Given the description of an element on the screen output the (x, y) to click on. 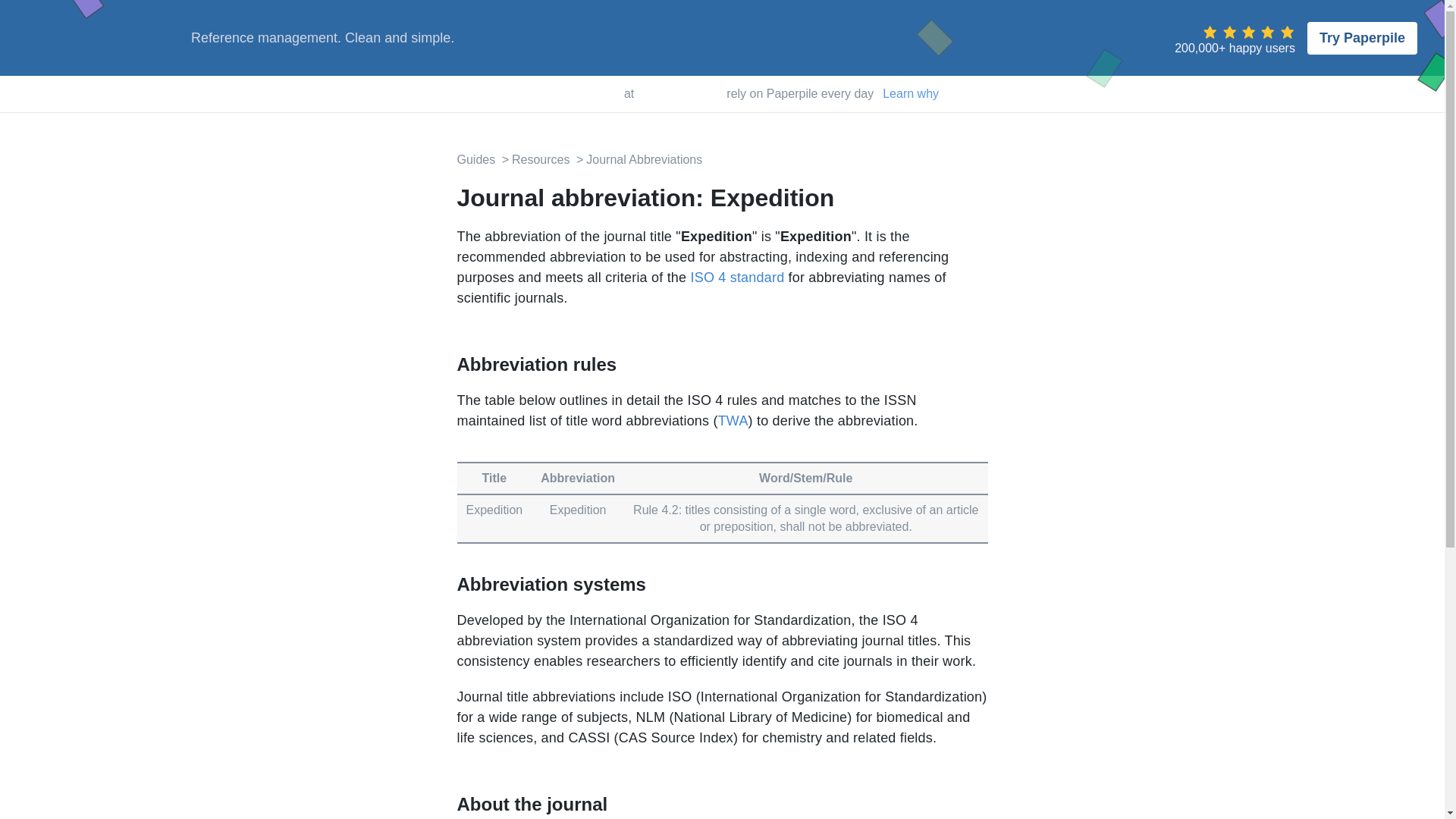
Learn why (910, 93)
Reference management. Clean and simple. (322, 37)
Guides (476, 159)
Try Paperpile (1361, 37)
Resources (534, 159)
ISO 4 standard (737, 277)
TWA (732, 420)
Journal Abbreviations (637, 159)
